Given the description of an element on the screen output the (x, y) to click on. 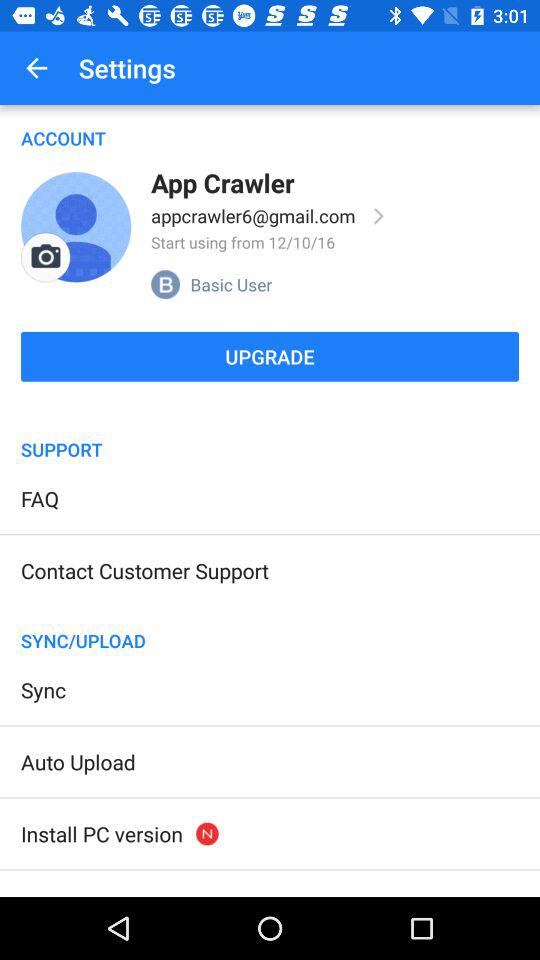
flip to the start using from icon (243, 242)
